Given the description of an element on the screen output the (x, y) to click on. 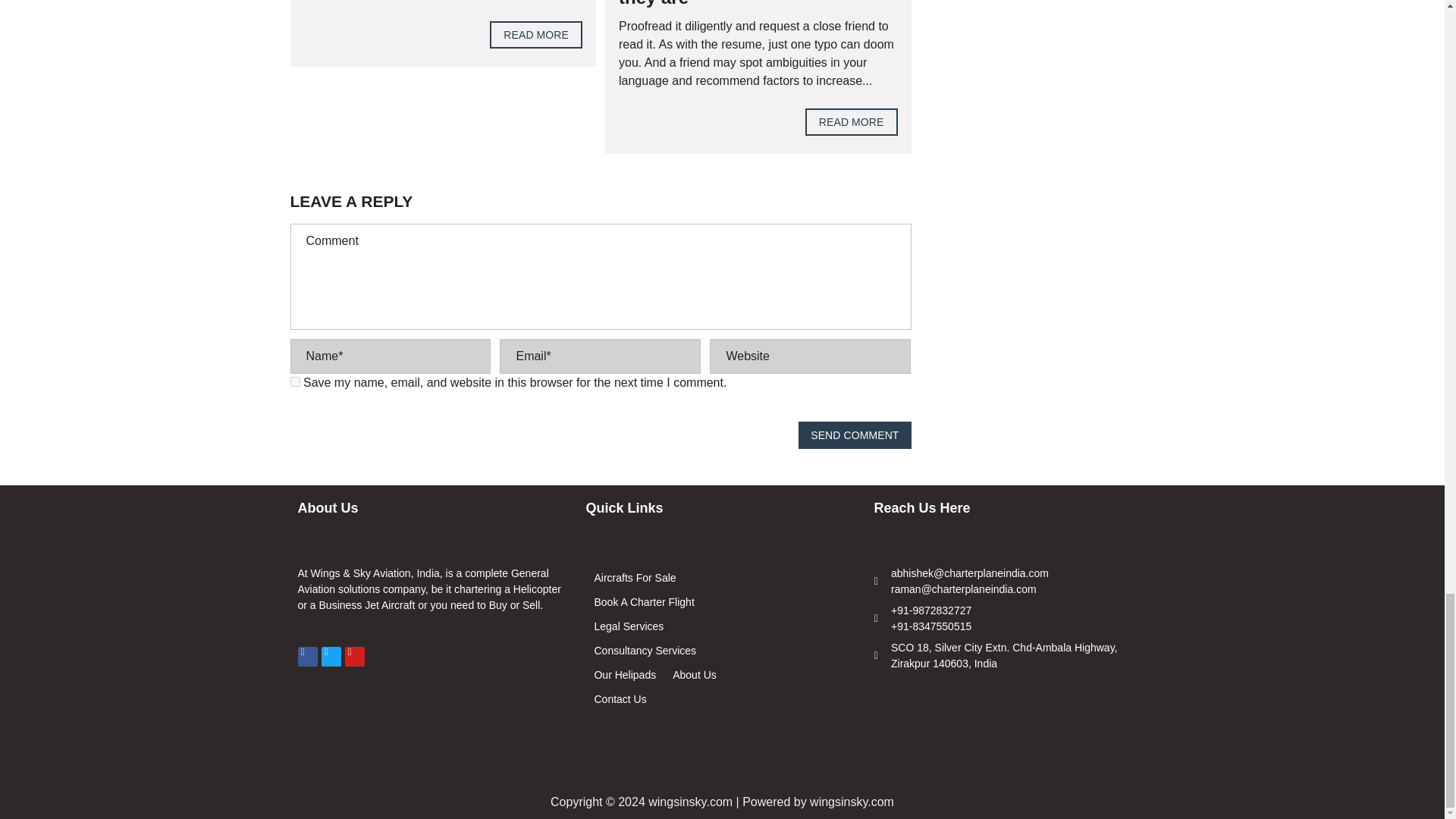
yes (294, 381)
READ MORE (535, 34)
READ MORE (851, 121)
SEND COMMENT (854, 434)
